Given the description of an element on the screen output the (x, y) to click on. 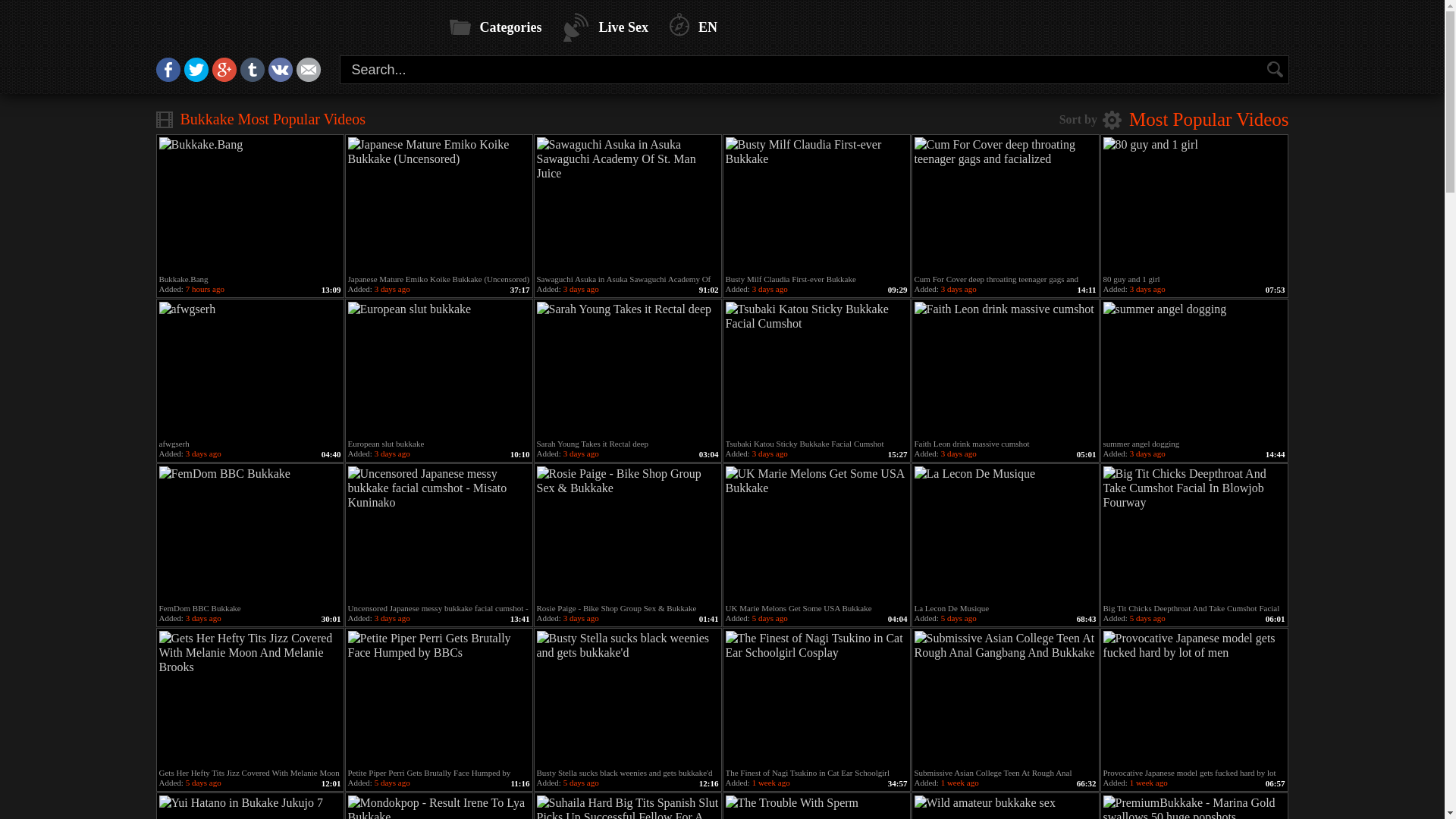
summer angel dogging Element type: hover (1193, 369)
FemDom BBC Bukkake Element type: hover (250, 534)
Cum For Cover deep throating teenager gags and facialized Element type: hover (1005, 205)
Categories Element type: text (494, 26)
Share on Facebook Element type: hover (168, 77)
Cumshot tube with asian bukkake and big tit bukkake ends. Element type: text (291, 31)
Share on VK Element type: hover (280, 77)
Busty Milf Claudia First-ever Bukkake Element type: hover (815, 205)
Busty Stella sucks black weenies and gets bukkake'd Element type: hover (627, 698)
Tweet Element type: hover (195, 77)
Japanese Mature Emiko Koike Bukkake (Uncensored) Element type: hover (438, 205)
Bukkake.Bang Element type: hover (250, 205)
Email Element type: hover (307, 77)
Faith Leon drink massive cumshot Element type: hover (1005, 369)
Provocative Japanese model gets fucked hard by lot of men Element type: hover (1193, 698)
European slut bukkake Element type: hover (438, 369)
UK Marie Melons Get Some USA Bukkake Element type: hover (815, 534)
Live Sex Element type: text (605, 26)
Post to Tumblr Element type: hover (251, 77)
Sarah Young Takes it Rectal deep Element type: hover (627, 369)
Tsubaki Katou Sticky Bukkake Facial Cumshot Element type: hover (815, 369)
afwgserh Element type: hover (250, 369)
Rosie Paige - Bike Shop Group Sex & Bukkake Element type: hover (627, 534)
EN Element type: text (693, 26)
Petite Piper Perri Gets Brutally Face Humped by BBCs Element type: hover (438, 698)
The Finest of Nagi Tsukino in Cat Ear Schoolgirl Cosplay Element type: hover (815, 698)
La Lecon De Musique Element type: hover (1005, 534)
Sawaguchi Asuka in Asuka Sawaguchi Academy Of St. Man Juice Element type: hover (627, 205)
80 guy and 1 girl Element type: hover (1193, 205)
Share on Google+ Element type: hover (224, 77)
